Given the description of an element on the screen output the (x, y) to click on. 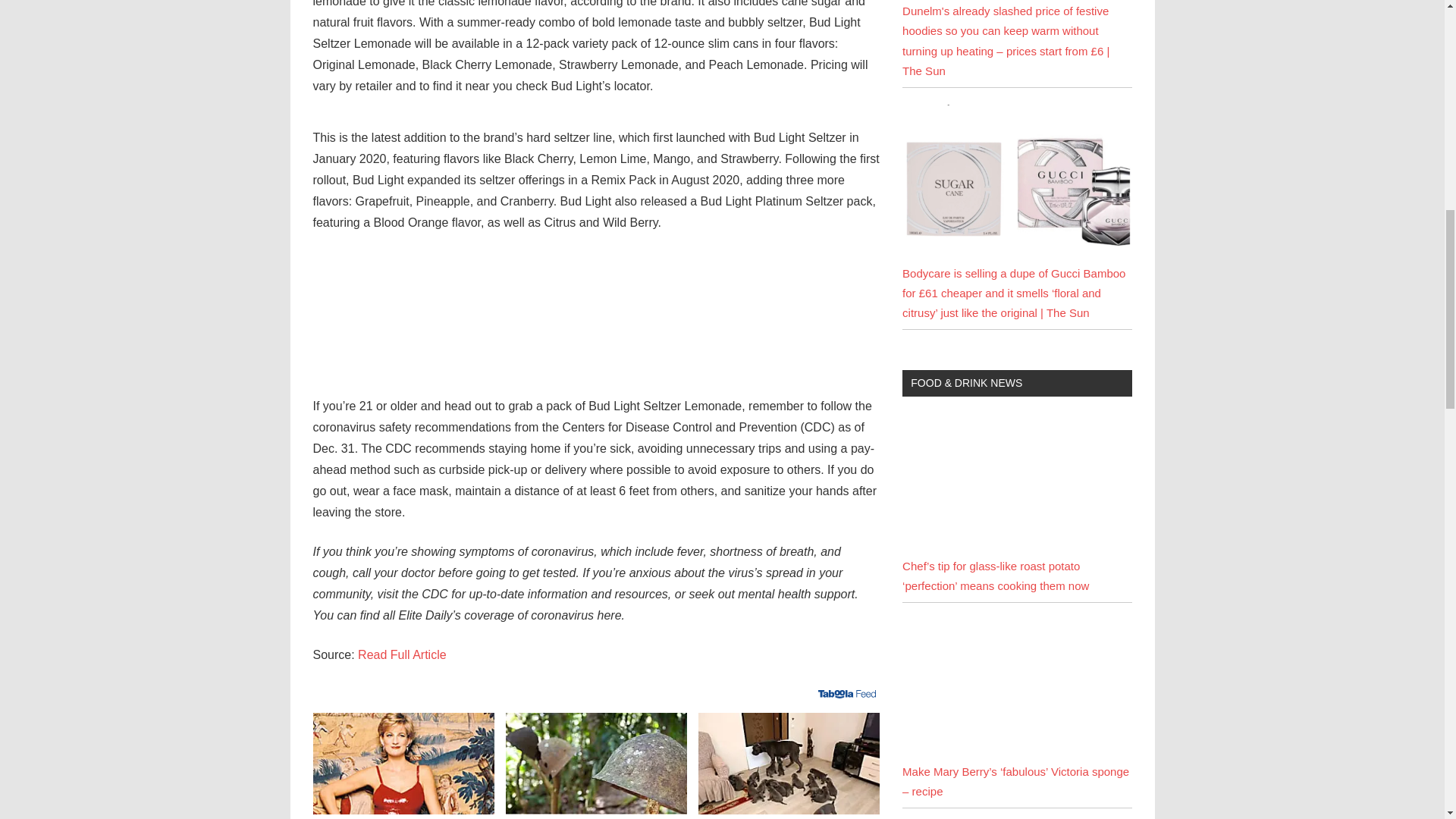
The owner of the dog would not have expected this (788, 763)
Read Full Article (402, 654)
Rare Photos Of Diana - No. 9 Will Surprise You (404, 763)
